Given the description of an element on the screen output the (x, y) to click on. 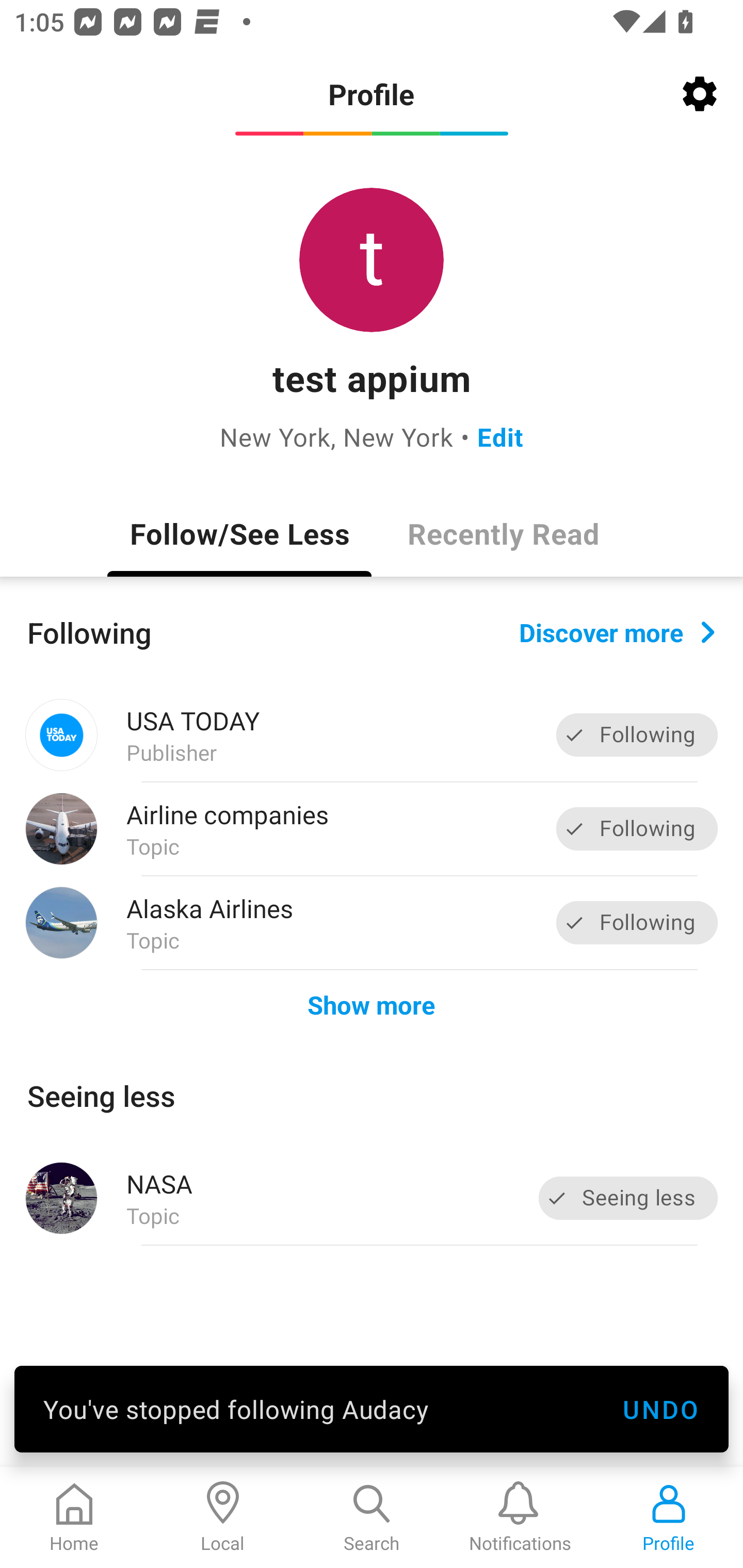
Settings (699, 93)
Edit (500, 436)
Recently Read (503, 533)
Discover more (617, 631)
USA TODAY Publisher Following (371, 735)
Following (636, 735)
Airline companies Topic Following (371, 829)
Following (636, 828)
Alaska Airlines Topic Following (371, 922)
Following (636, 922)
Show more (371, 1004)
NASA Topic Seeing less (371, 1197)
Seeing less (627, 1197)
UNDO (660, 1408)
Home (74, 1517)
Local (222, 1517)
Search (371, 1517)
Notifications (519, 1517)
